Given the description of an element on the screen output the (x, y) to click on. 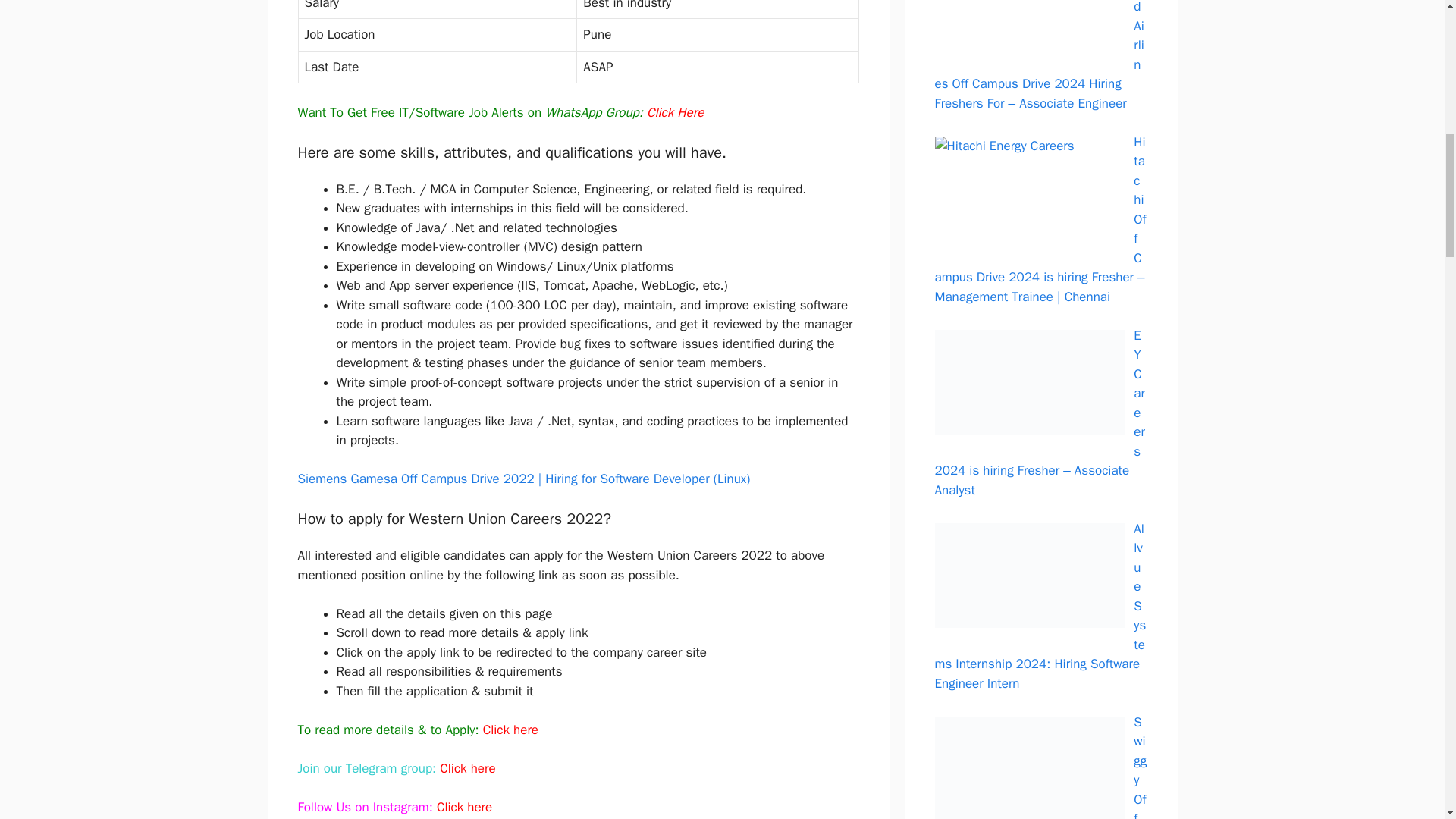
Click here (464, 806)
Click Here (674, 112)
Click here (510, 729)
Click here (467, 768)
